Given the description of an element on the screen output the (x, y) to click on. 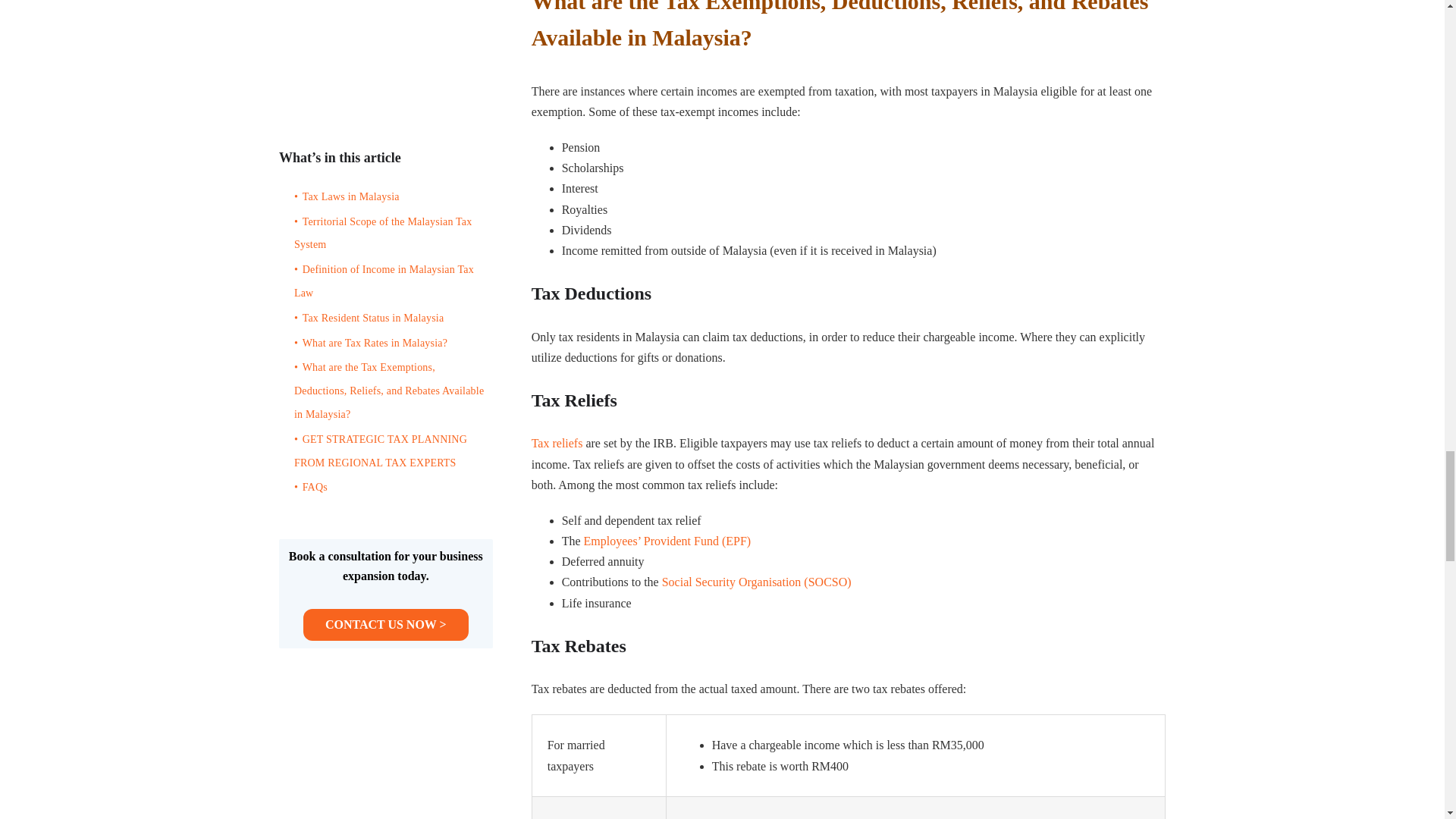
Tax reliefs (557, 442)
